Given the description of an element on the screen output the (x, y) to click on. 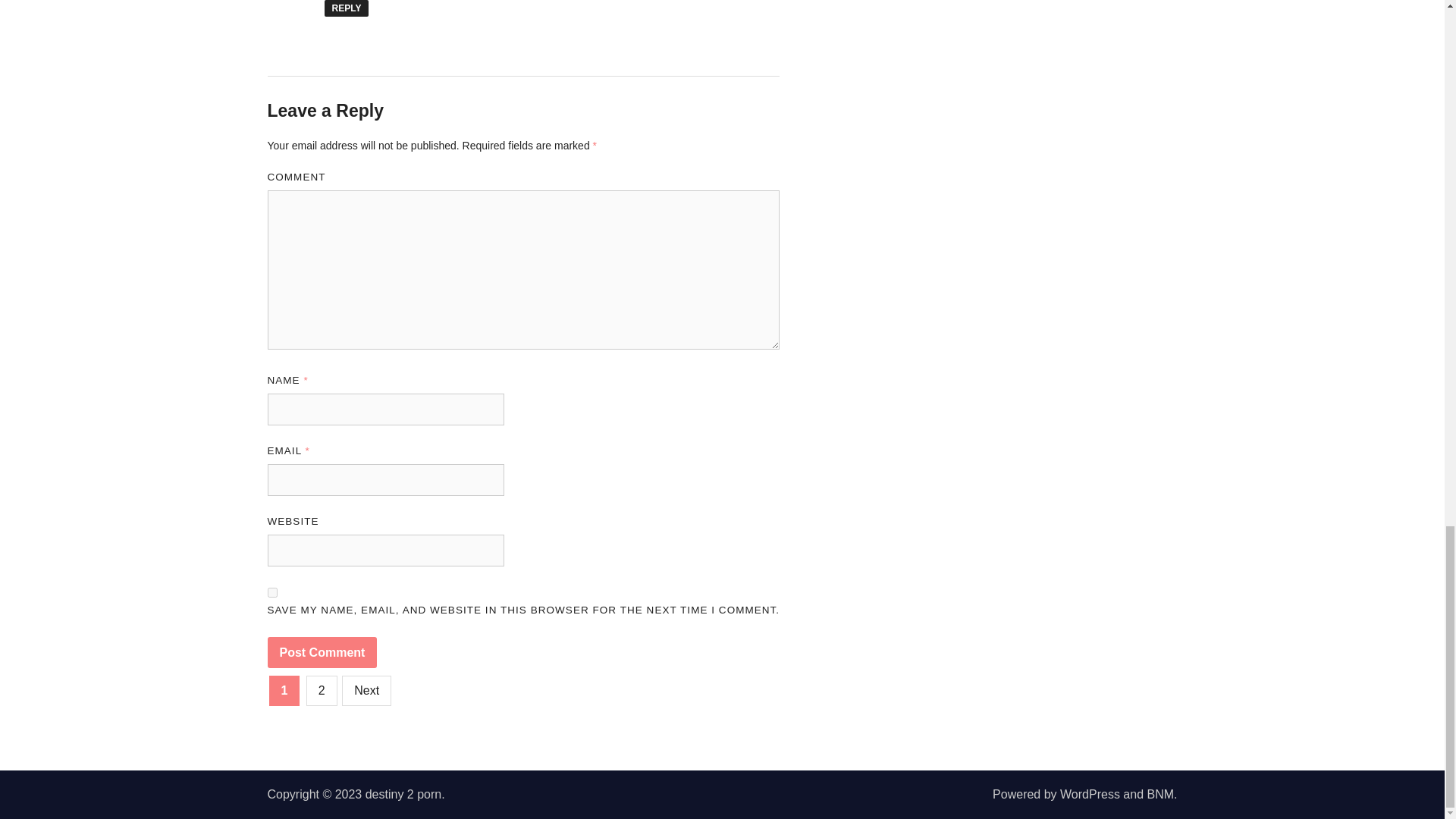
Next (366, 690)
2 (321, 690)
REPLY (346, 8)
yes (271, 592)
Post Comment (321, 653)
Post Comment (321, 653)
destiny 2 porn (403, 793)
